Given the description of an element on the screen output the (x, y) to click on. 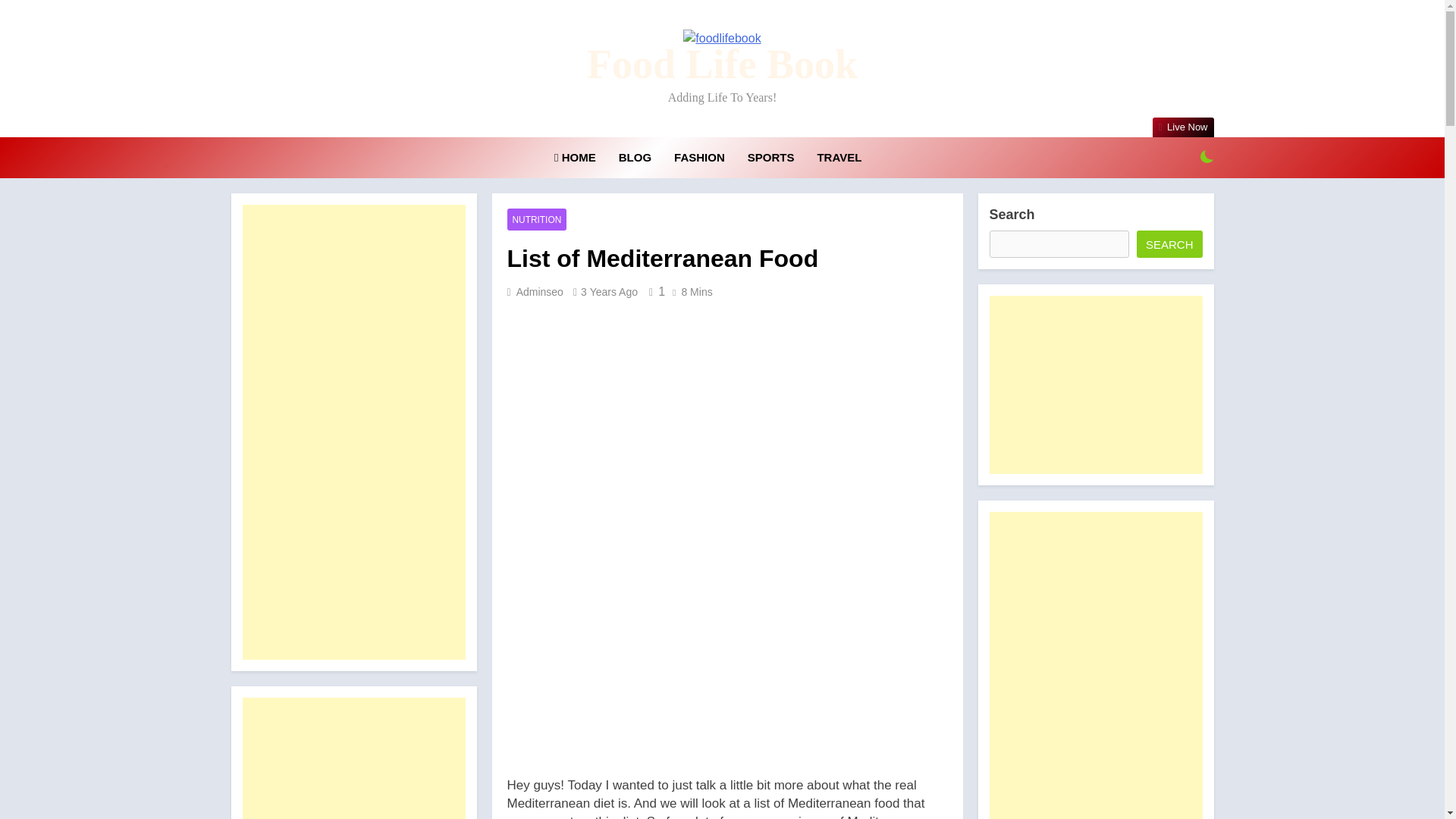
Advertisement (354, 758)
Live Now (1183, 127)
TRAVEL (838, 157)
Food Life Book (721, 63)
SEARCH (1169, 243)
on (1206, 156)
HOME (575, 157)
FASHION (699, 157)
BLOG (634, 157)
SPORTS (771, 157)
